Given the description of an element on the screen output the (x, y) to click on. 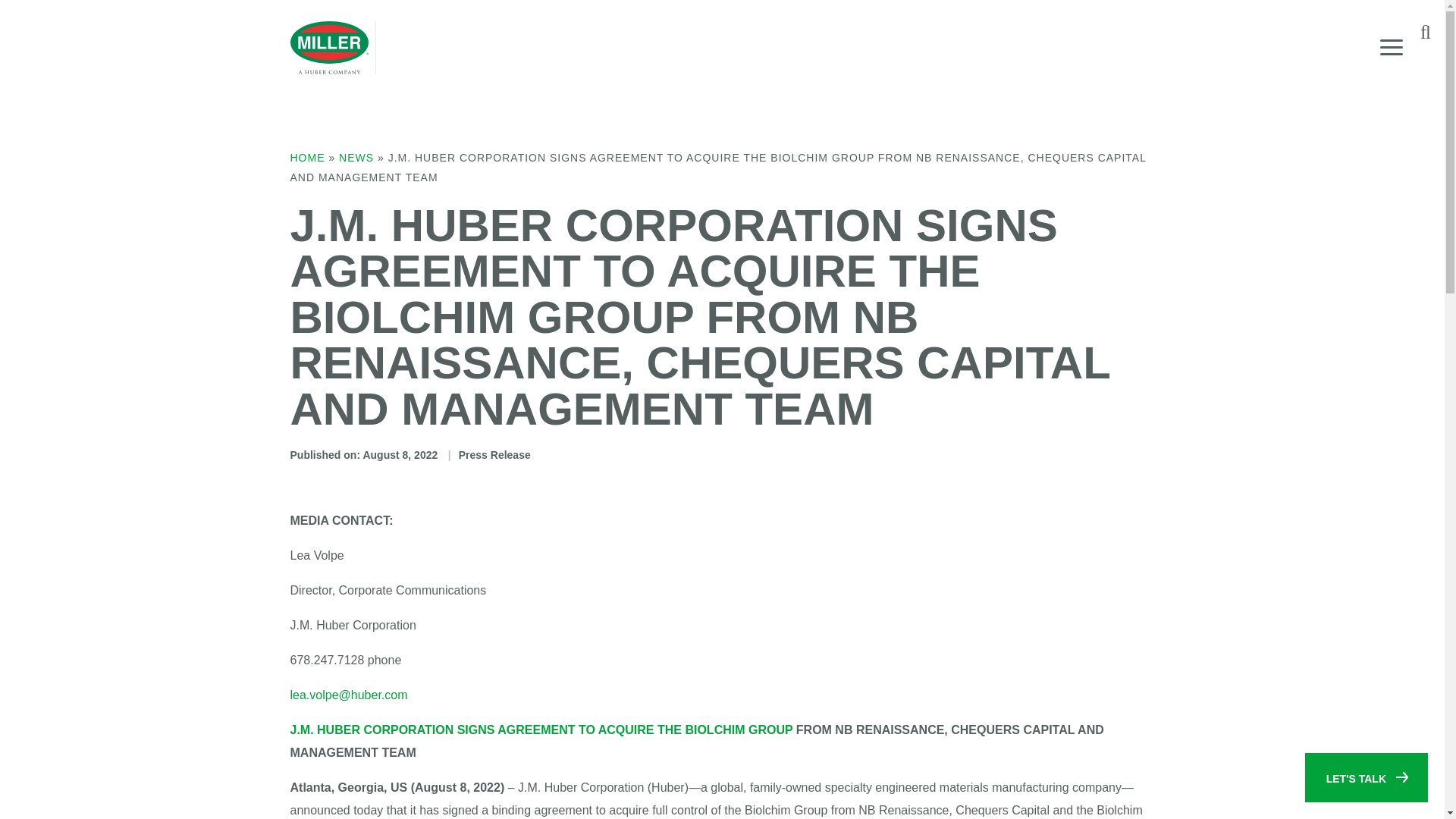
Main Menu (1391, 46)
Miller Chemical Crop Fertilizer Products (328, 47)
